Given the description of an element on the screen output the (x, y) to click on. 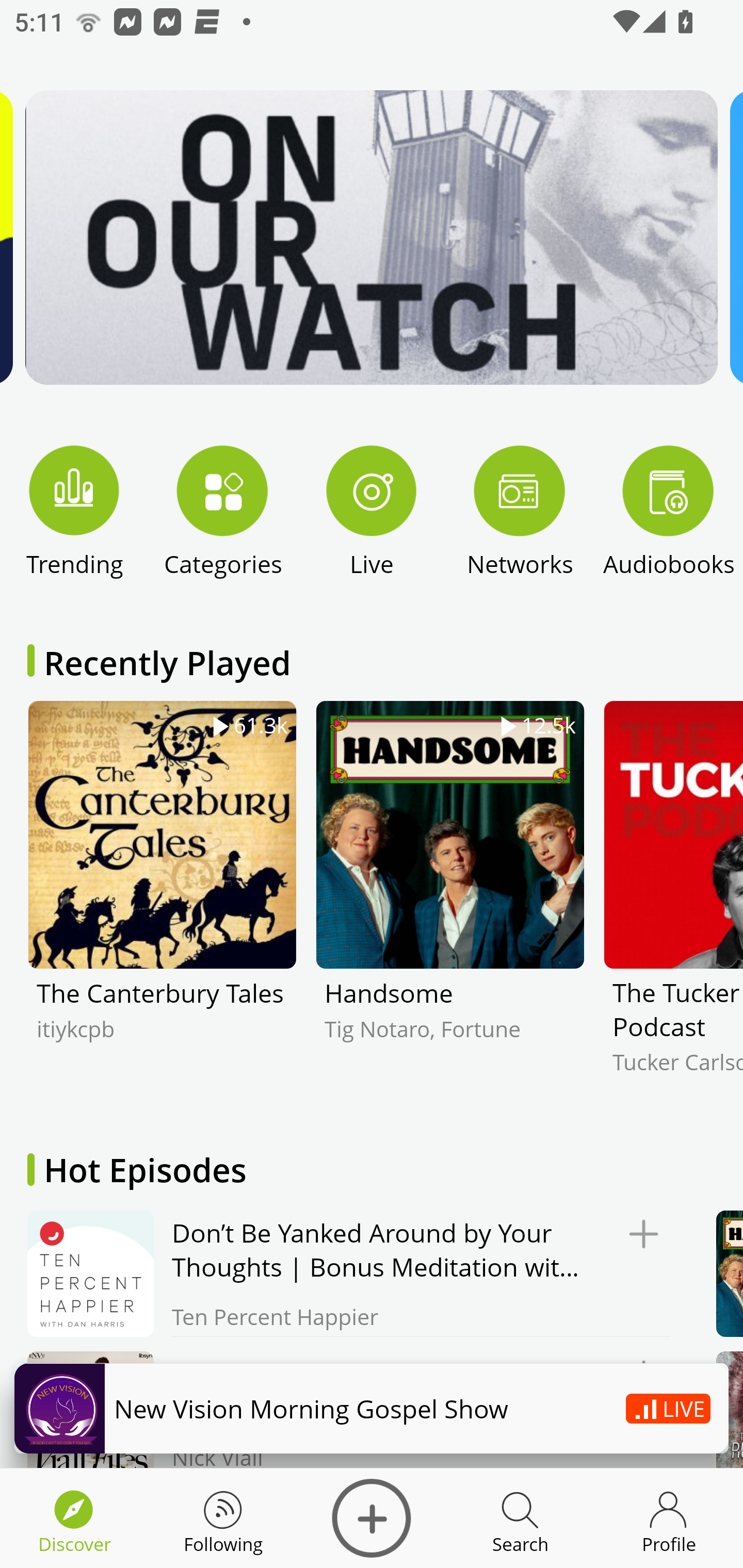
61.3k The Canterbury Tales itiykcpb (162, 902)
The Tucker Carlson Podcast Tucker Carlson (673, 902)
Podbean New Vision Morning Gospel Show LIVE (371, 1407)
Discover Following (222, 1518)
Discover (371, 1518)
Discover Search (519, 1518)
Discover Profile (668, 1518)
